Given the description of an element on the screen output the (x, y) to click on. 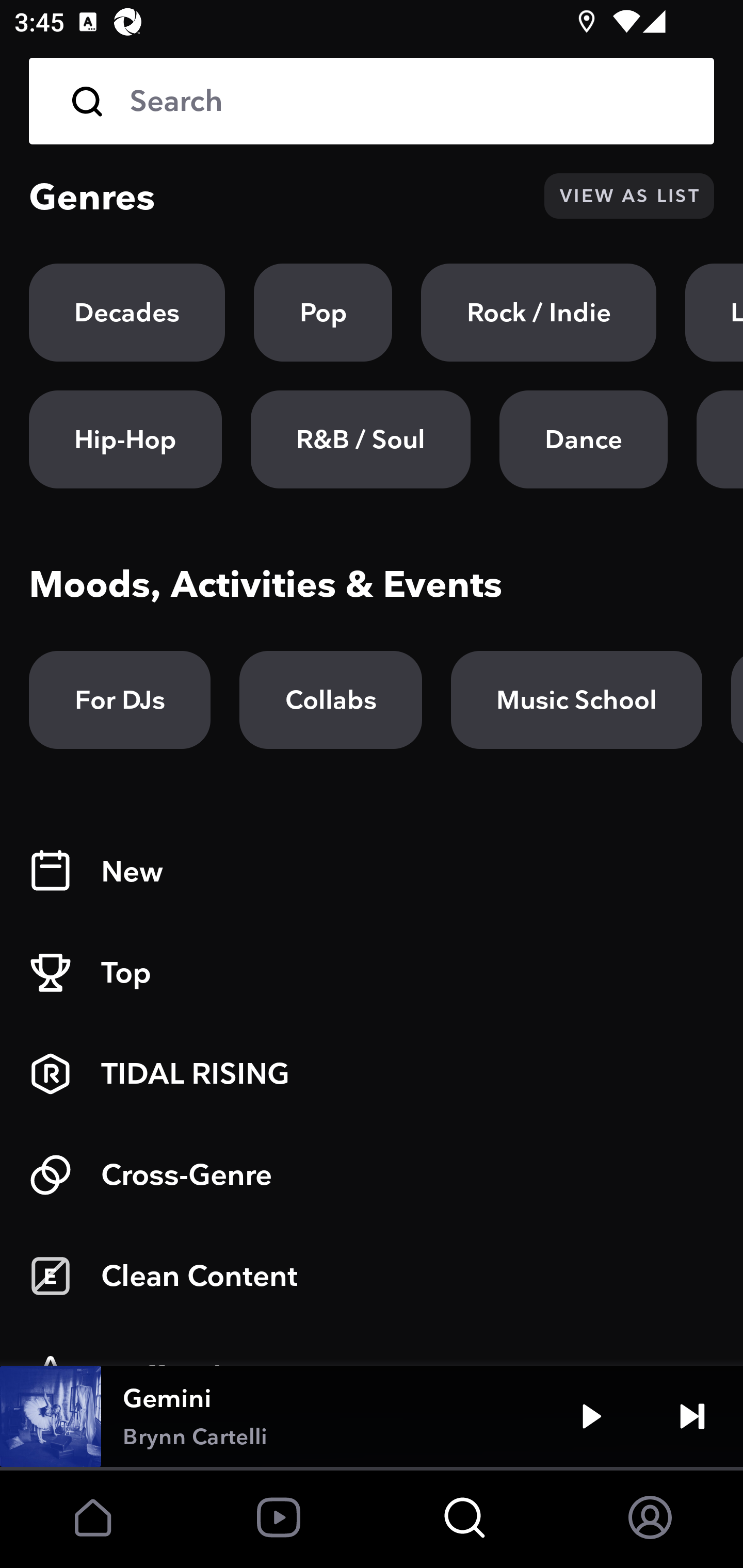
Search (371, 101)
Search (407, 100)
VIEW AS LIST (629, 195)
Decades (126, 312)
Pop (323, 312)
Rock / Indie (538, 312)
Hip-Hop (125, 439)
R&B / Soul (360, 439)
Dance (583, 439)
For DJs (119, 699)
Collabs (330, 699)
Music School (576, 699)
New (371, 871)
Top (371, 972)
TIDAL RISING (371, 1073)
Cross-Genre (371, 1175)
Clean Content (371, 1276)
Gemini Brynn Cartelli Play (371, 1416)
Play (590, 1416)
